Given the description of an element on the screen output the (x, y) to click on. 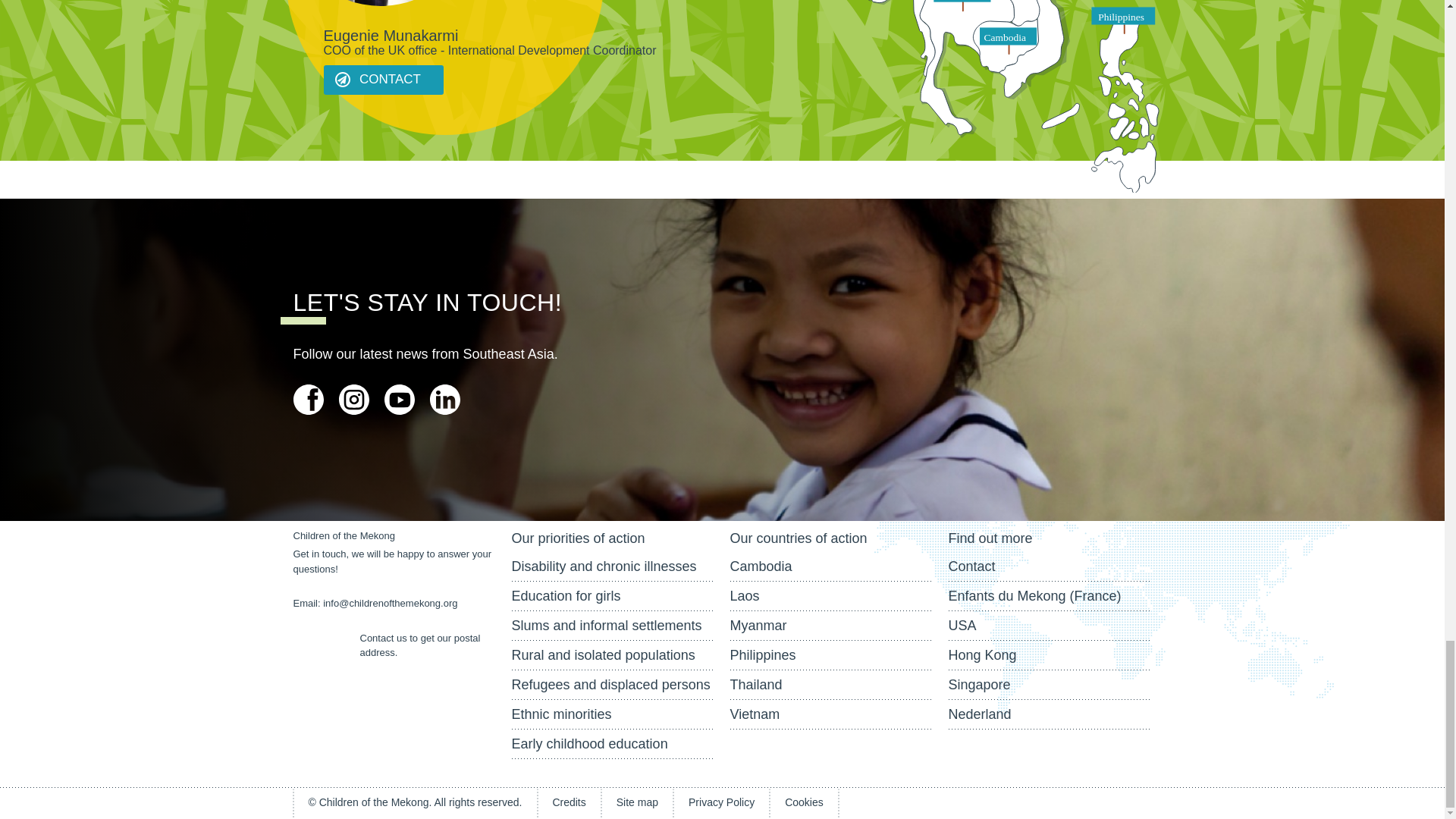
Join our community of change makers (444, 399)
Follow our journey in Southeast Asia (352, 399)
Discover our work in Southeast Asia (398, 399)
Join the Children of the Mekong family (307, 399)
